Given the description of an element on the screen output the (x, y) to click on. 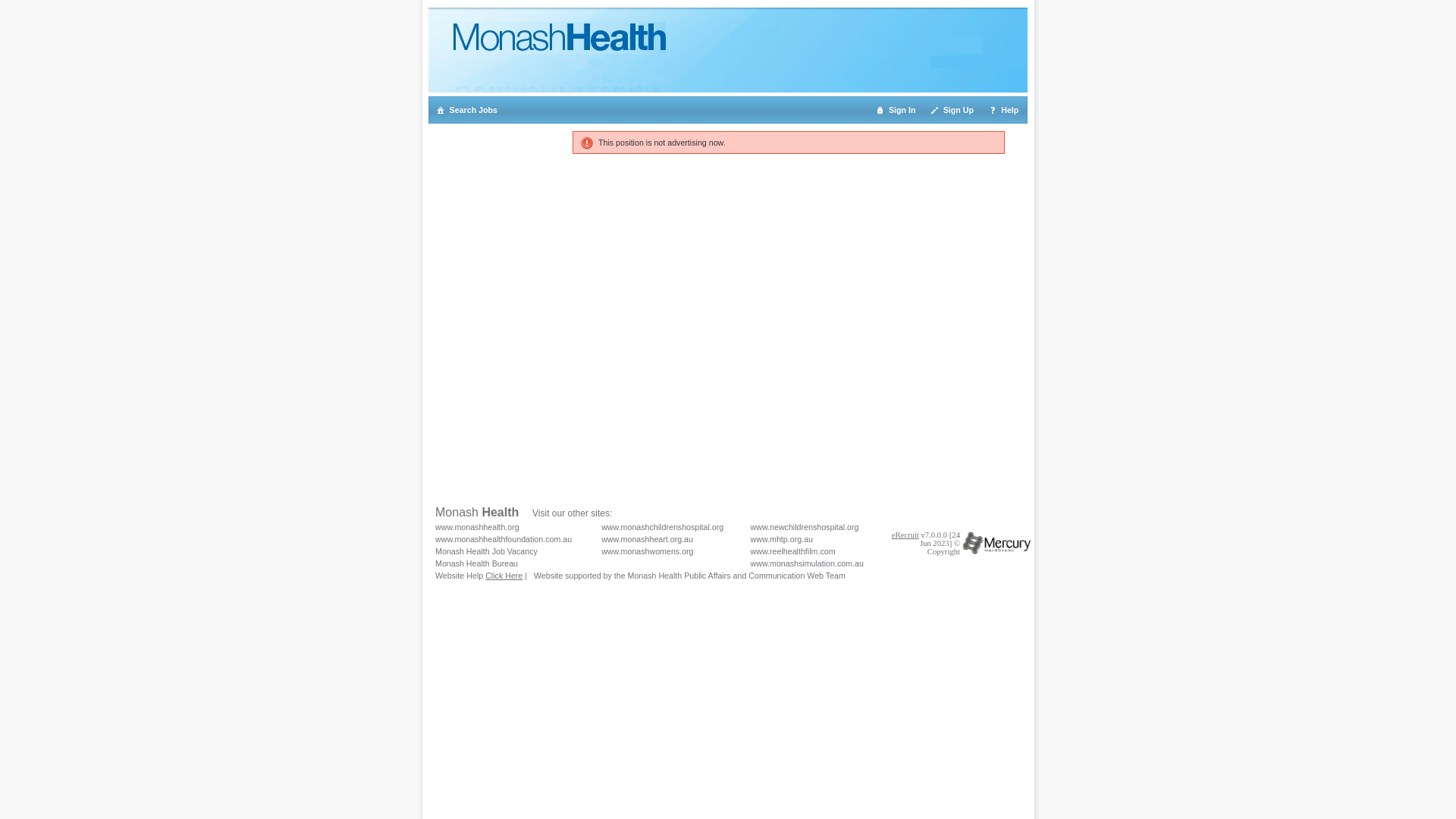
Monash Health Bureau Element type: text (476, 562)
www.mhtp.org.au Element type: text (781, 538)
www.monashhealth.org Element type: text (477, 526)
Click Here Element type: text (503, 575)
Sign Up Element type: text (952, 109)
Search Jobs Element type: text (467, 109)
Mercury Group of Companies Element type: hover (995, 542)
www.monashsimulation.com.au Element type: text (806, 562)
www.monashchildrenshospital.org Element type: text (662, 526)
eRecruit Element type: text (905, 534)
www.reelhealthfilm.com Element type: text (792, 550)
www.monashwomens.org Element type: text (647, 550)
Sign In Element type: text (896, 109)
Monash Health Job Vacancy Element type: text (486, 550)
www.monashheart.org.au Element type: text (647, 538)
Help Element type: text (1004, 109)
www.newchildrenshospital.org Element type: text (804, 526)
www.monashhealthfoundation.com.au Element type: text (503, 538)
